Given the description of an element on the screen output the (x, y) to click on. 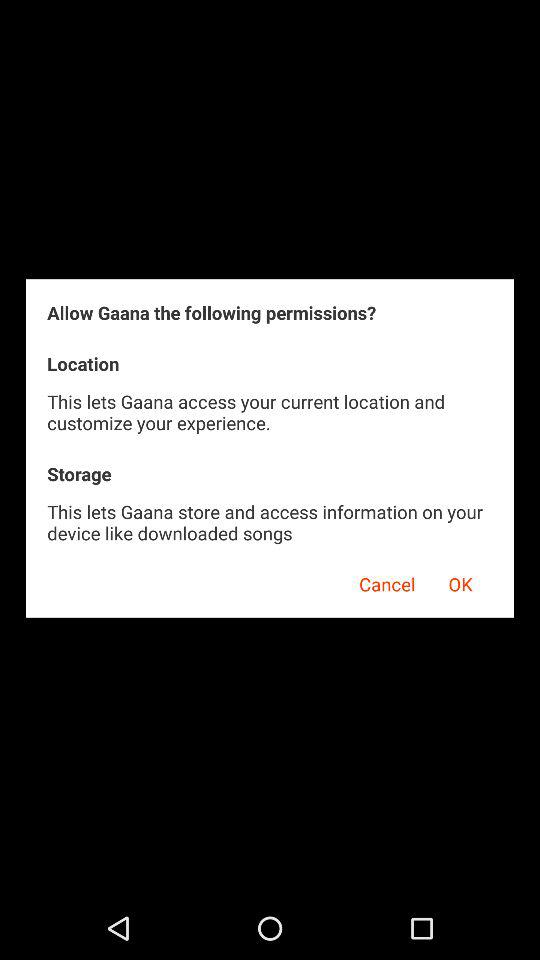
open the cancel app (380, 581)
